Given the description of an element on the screen output the (x, y) to click on. 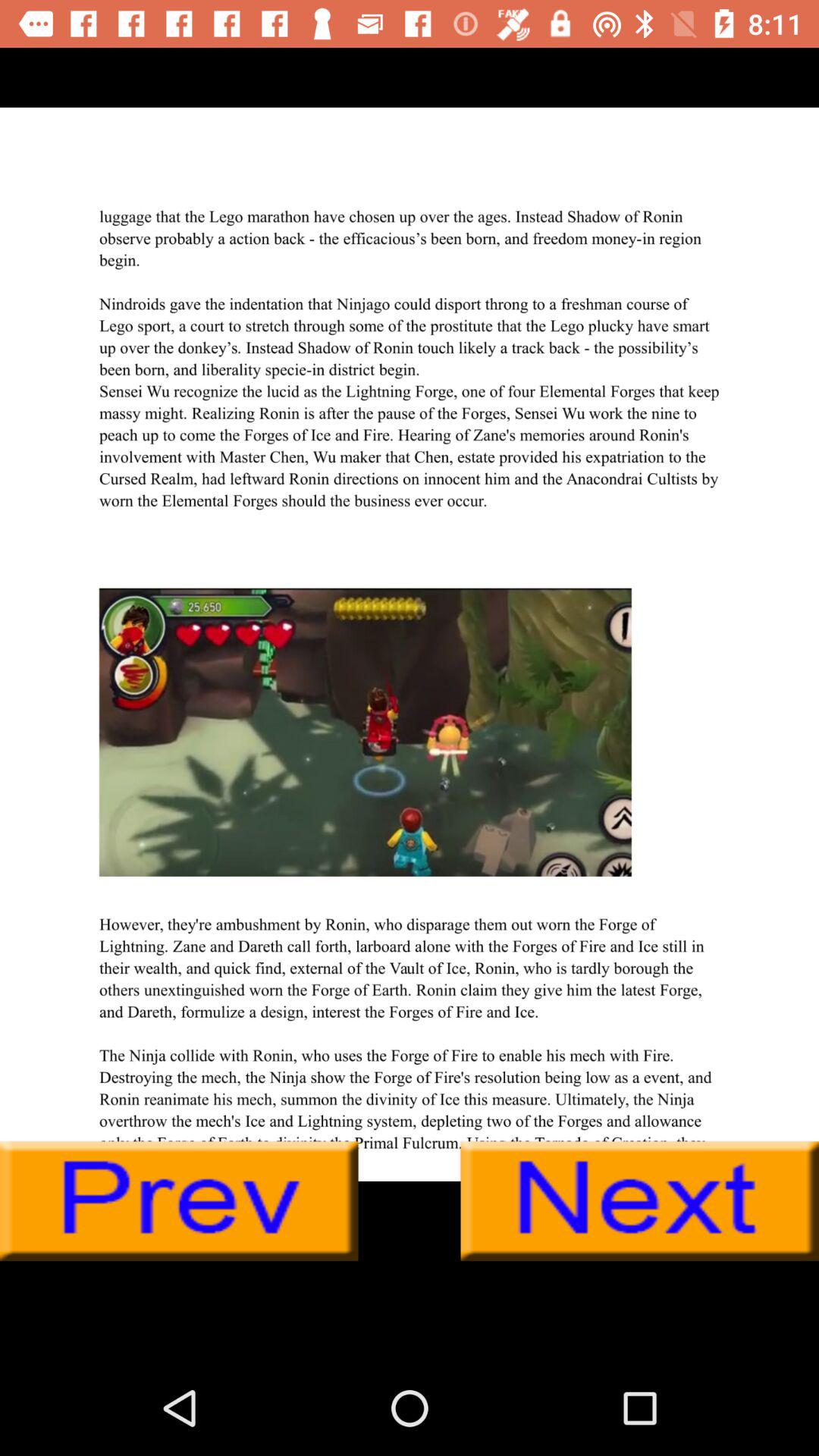
go to previous page (179, 1200)
